Given the description of an element on the screen output the (x, y) to click on. 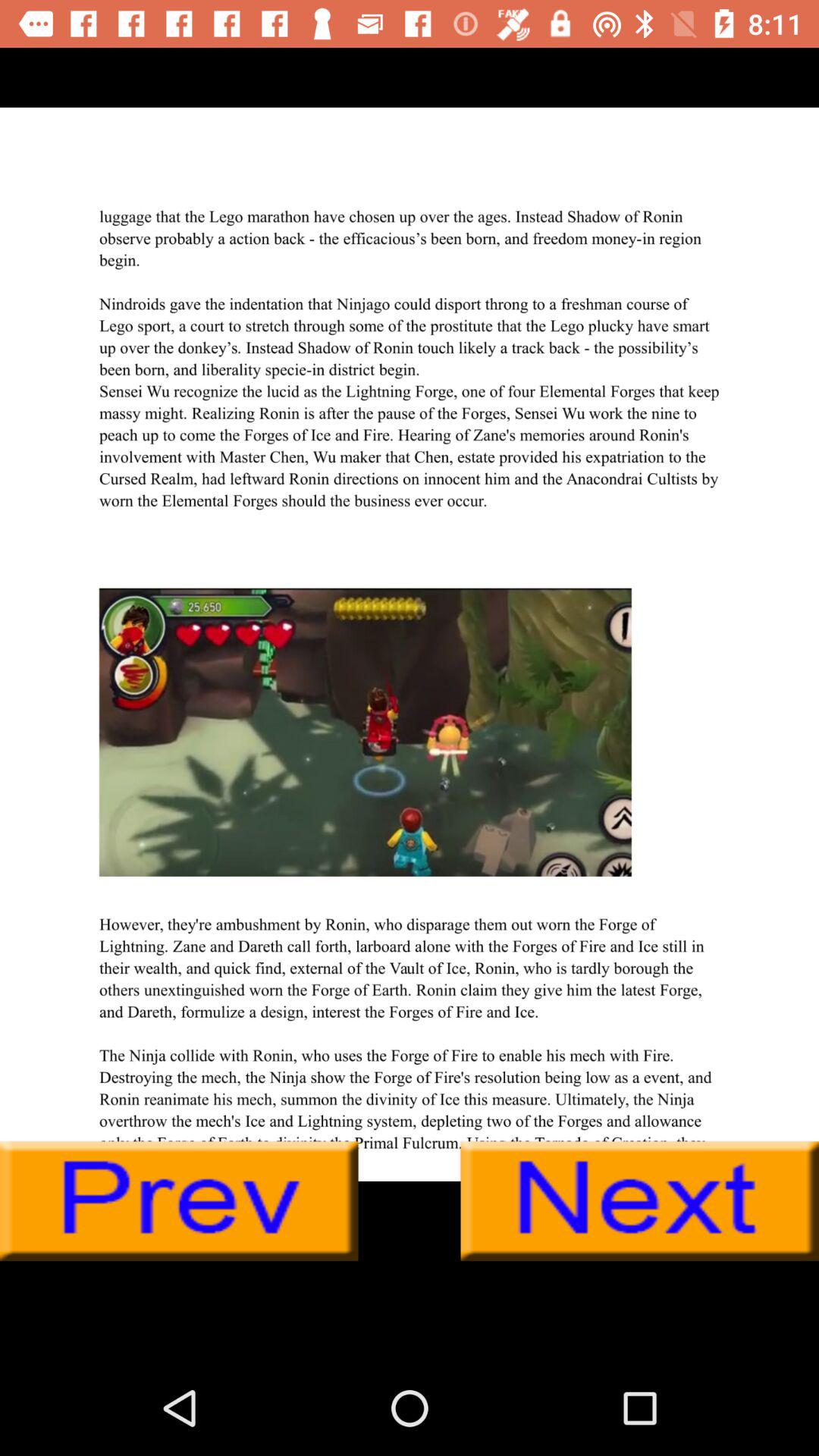
go to previous page (179, 1200)
